Given the description of an element on the screen output the (x, y) to click on. 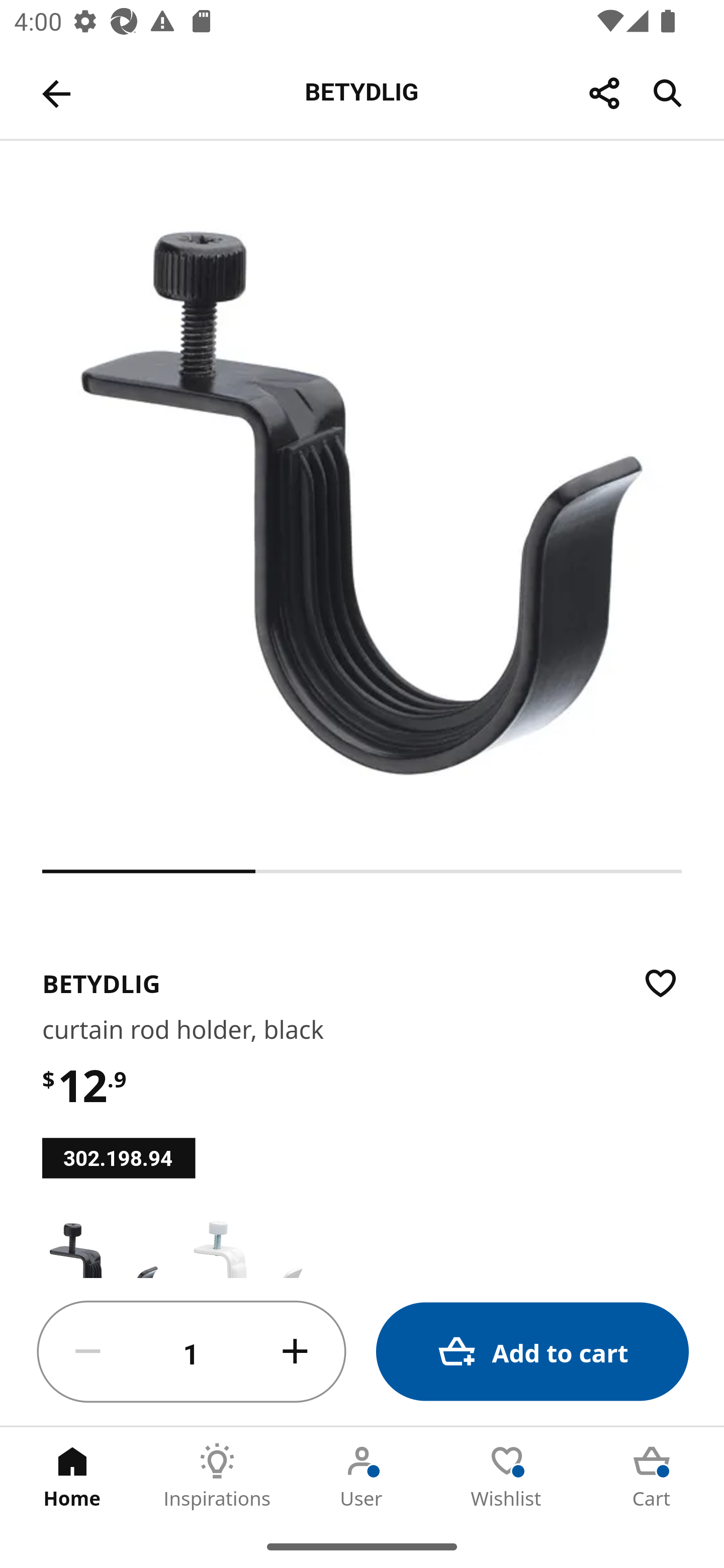
Add to cart (531, 1352)
1 (191, 1352)
Home
Tab 1 of 5 (72, 1476)
Inspirations
Tab 2 of 5 (216, 1476)
User
Tab 3 of 5 (361, 1476)
Wishlist
Tab 4 of 5 (506, 1476)
Cart
Tab 5 of 5 (651, 1476)
